Given the description of an element on the screen output the (x, y) to click on. 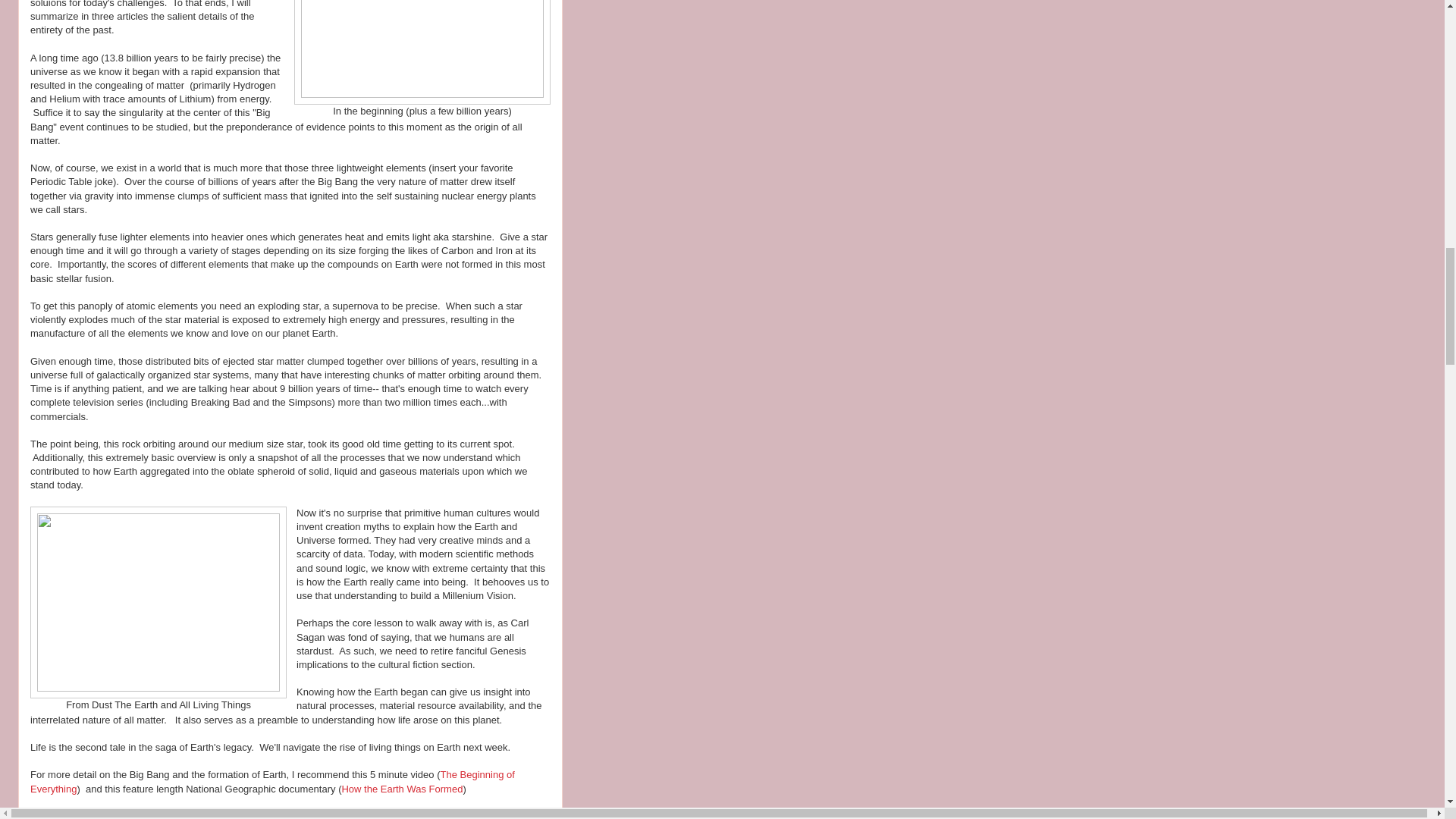
The Beginning of Everything (272, 781)
How the Earth Was Formed (401, 788)
